Given the description of an element on the screen output the (x, y) to click on. 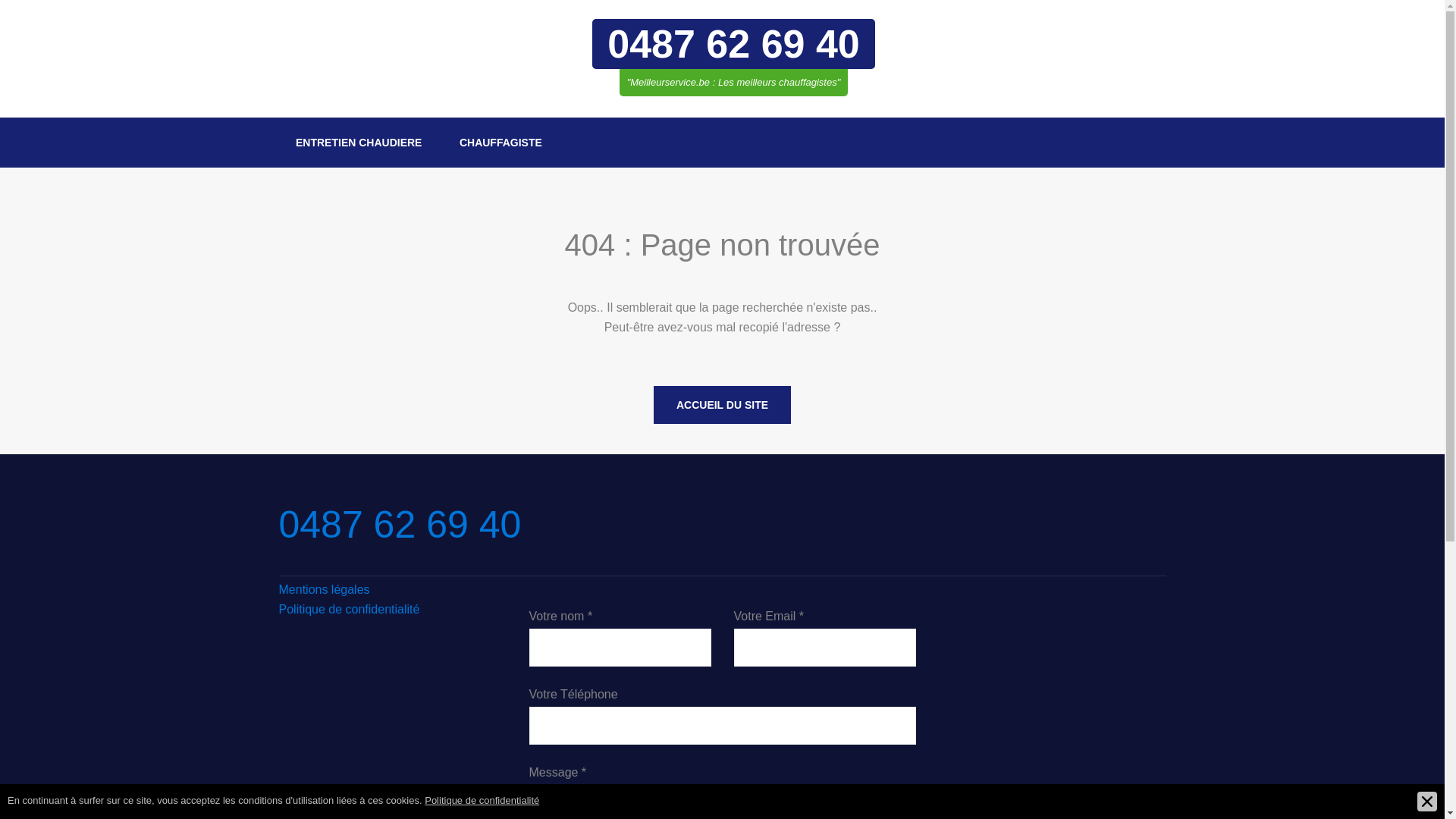
ENTRETIEN CHAUDIERE Element type: text (358, 142)
0487 62 69 40 Element type: text (733, 43)
0487 62 69 40 Element type: text (400, 524)
CHAUFFAGISTE Element type: text (500, 142)
ACCUEIL DU SITE Element type: text (721, 404)
